Given the description of an element on the screen output the (x, y) to click on. 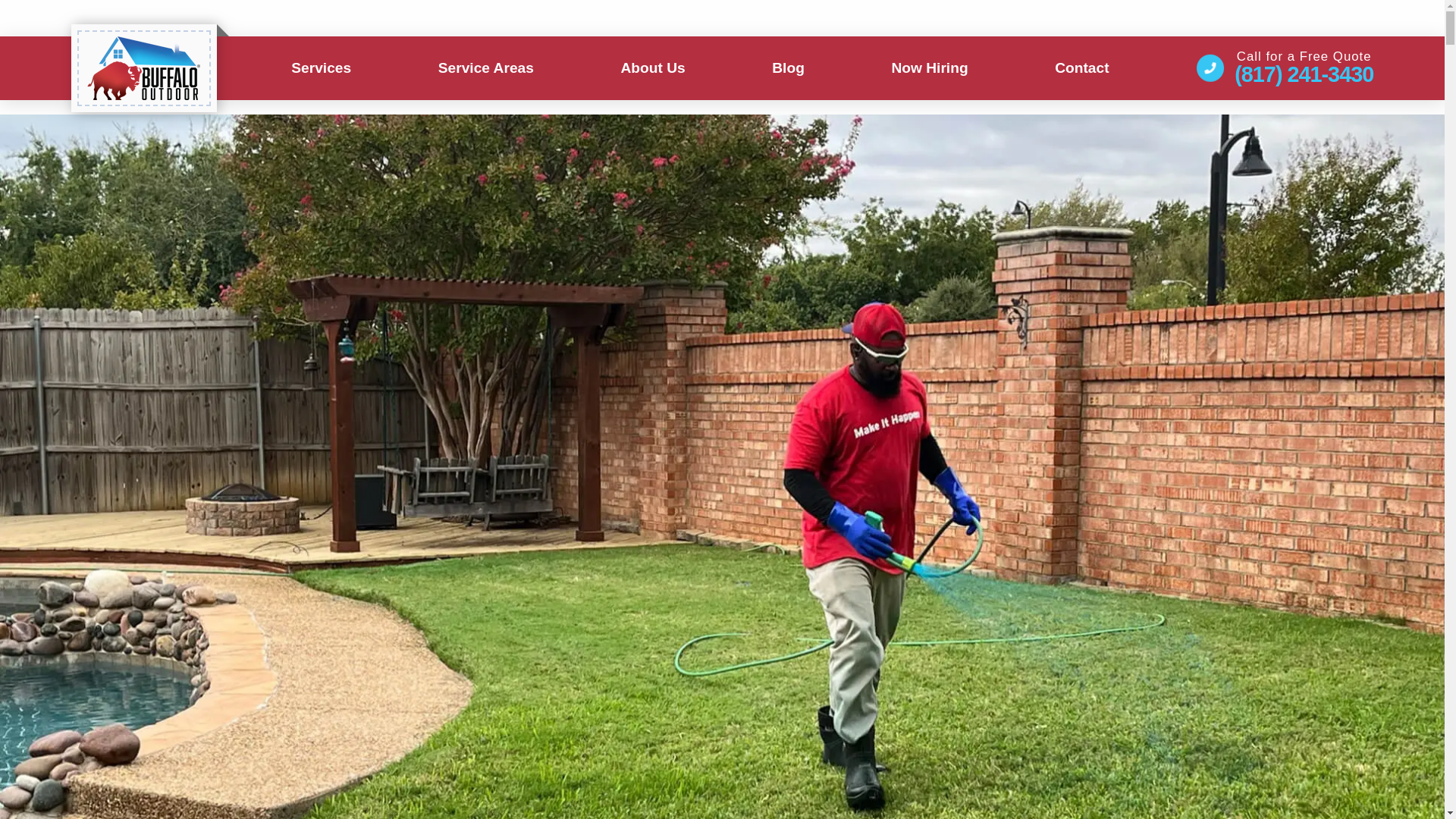
Services (320, 67)
